Given the description of an element on the screen output the (x, y) to click on. 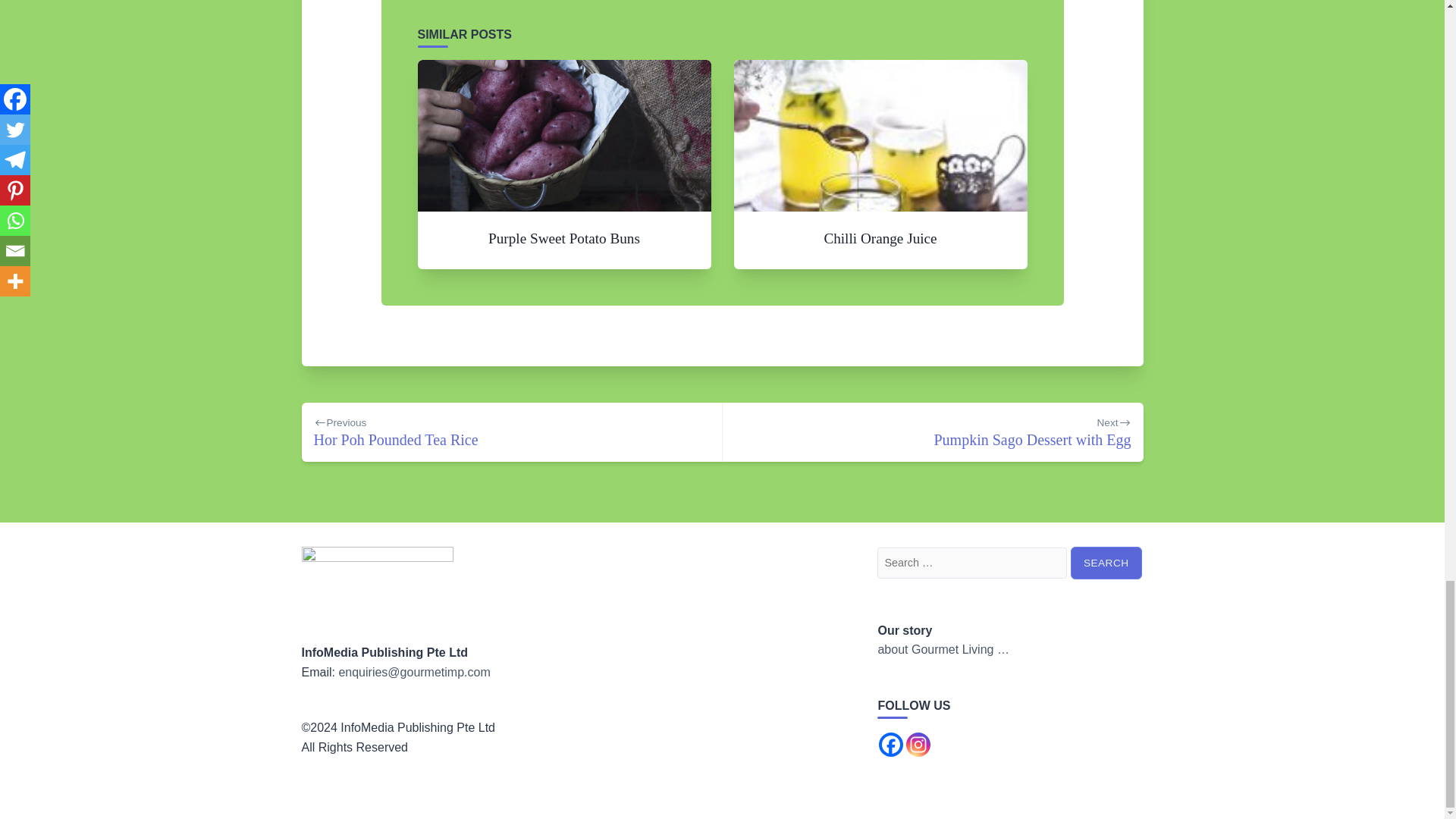
Search (1105, 563)
Search (511, 432)
Chilli Orange Juice (1105, 563)
Purple Sweet Potato Buns (880, 238)
Facebook (563, 238)
Search (890, 744)
Instagram (1105, 563)
